Given the description of an element on the screen output the (x, y) to click on. 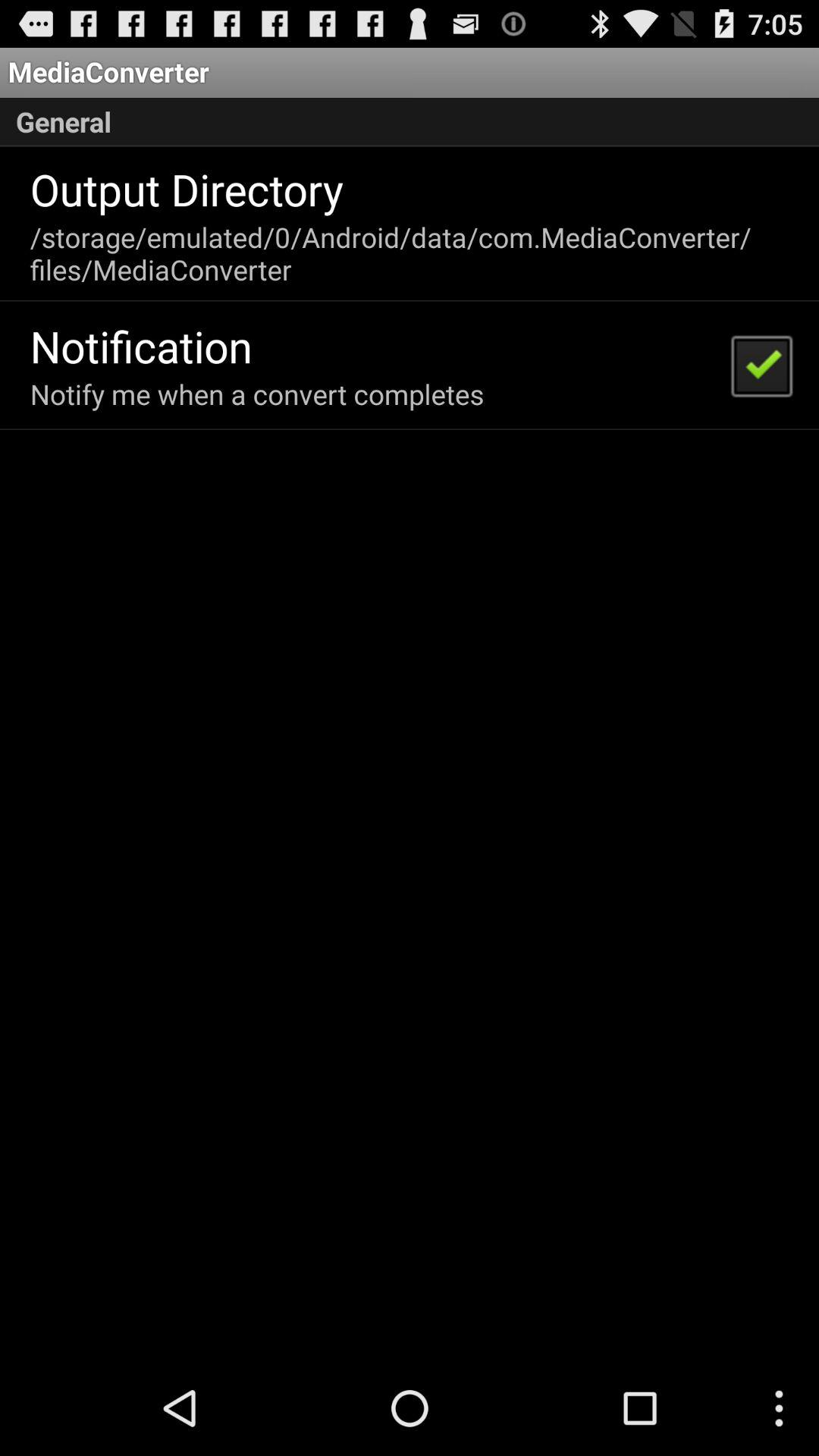
open icon below the notification item (257, 393)
